Given the description of an element on the screen output the (x, y) to click on. 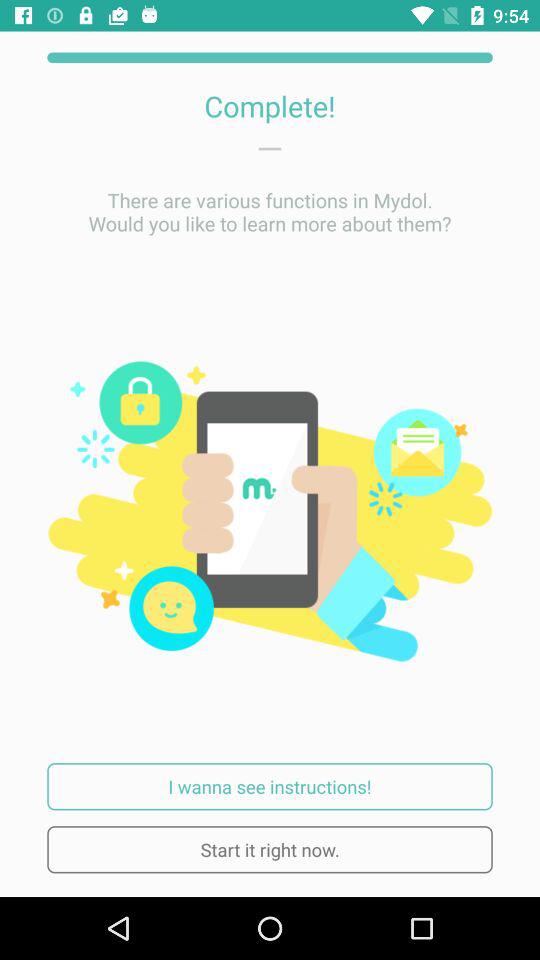
choose item below i wanna see item (269, 849)
